Given the description of an element on the screen output the (x, y) to click on. 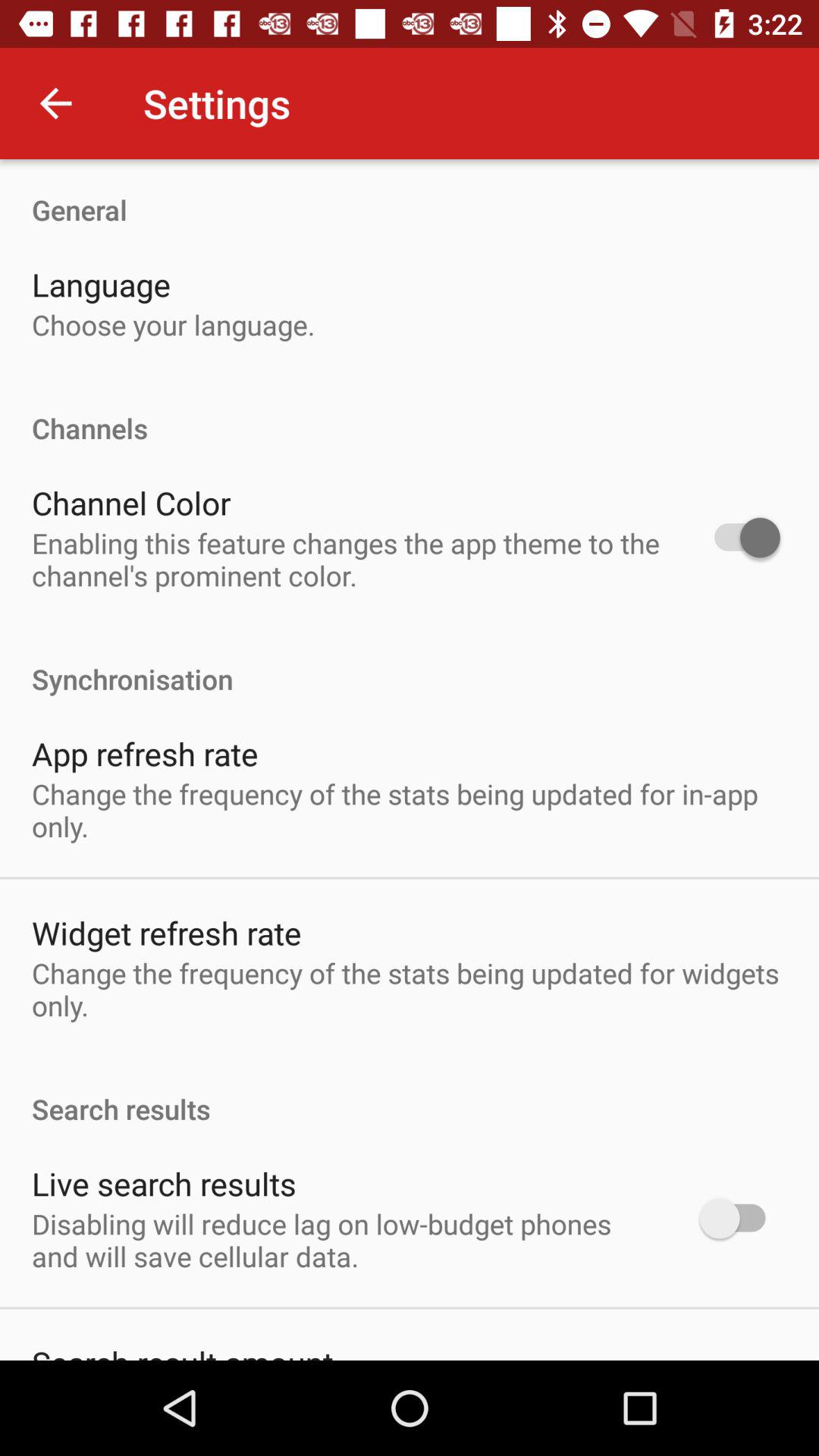
launch item below disabling will reduce item (182, 1350)
